Given the description of an element on the screen output the (x, y) to click on. 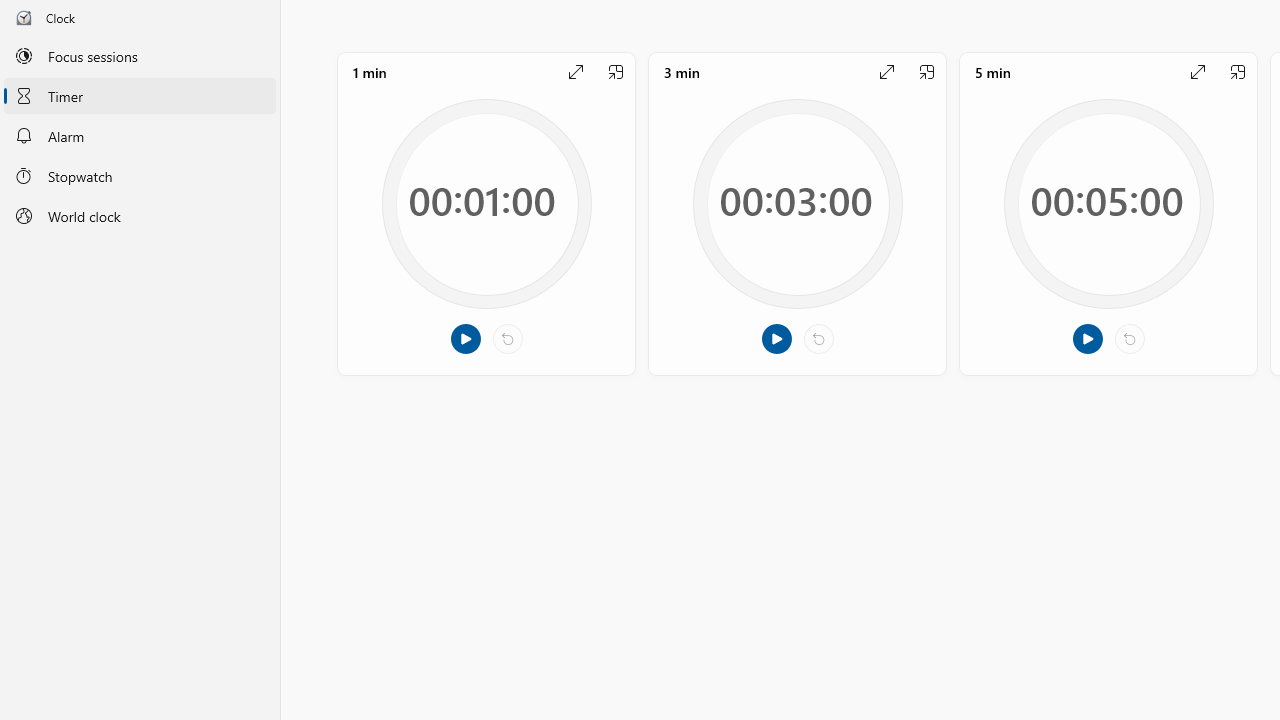
Focus sessions (139, 56)
Reset (1129, 339)
Stopwatch (139, 175)
Edit timer, 3 min, Not Started, 3 minutes 0 seconds (797, 213)
Timer (139, 95)
Keep on top (1238, 71)
Alarm (139, 136)
Edit timer, 5 min, Not Started, 5 minutes 0 seconds (1108, 213)
Edit timer, 1 min, Not Started, 1 minute 0 seconds (486, 213)
World clock (139, 216)
Expand (1197, 71)
